Given the description of an element on the screen output the (x, y) to click on. 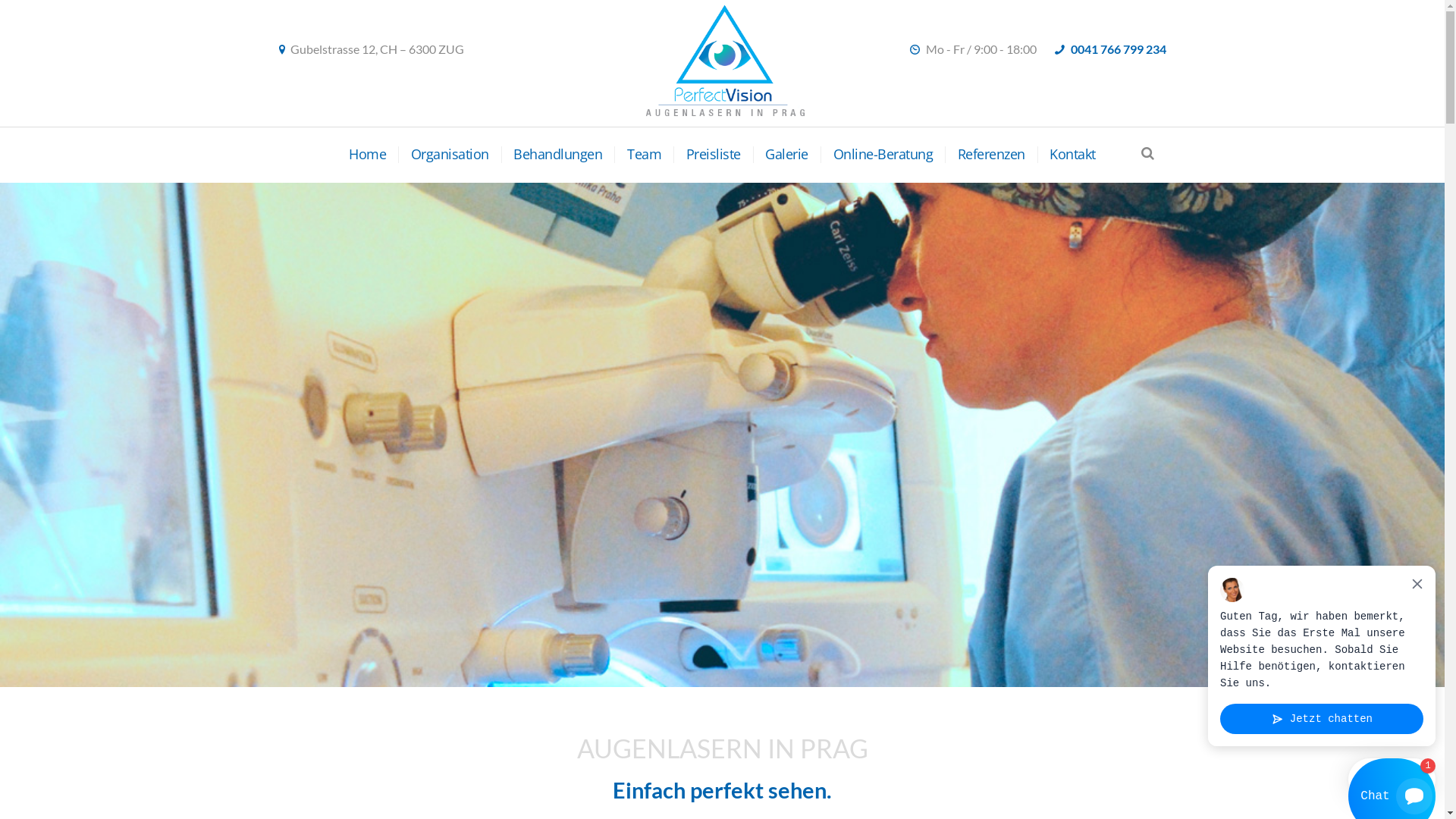
Team Element type: text (637, 154)
Preisliste Element type: text (706, 154)
Smartsupp widget popup Element type: hover (1321, 655)
Behandlungen Element type: text (551, 154)
Kontakt Element type: text (1066, 154)
Organisation Element type: text (443, 154)
Online-Beratung Element type: text (876, 154)
Galerie Element type: text (780, 154)
Home Element type: text (366, 154)
Open search Element type: hover (1147, 153)
Referenzen Element type: text (984, 154)
